Given the description of an element on the screen output the (x, y) to click on. 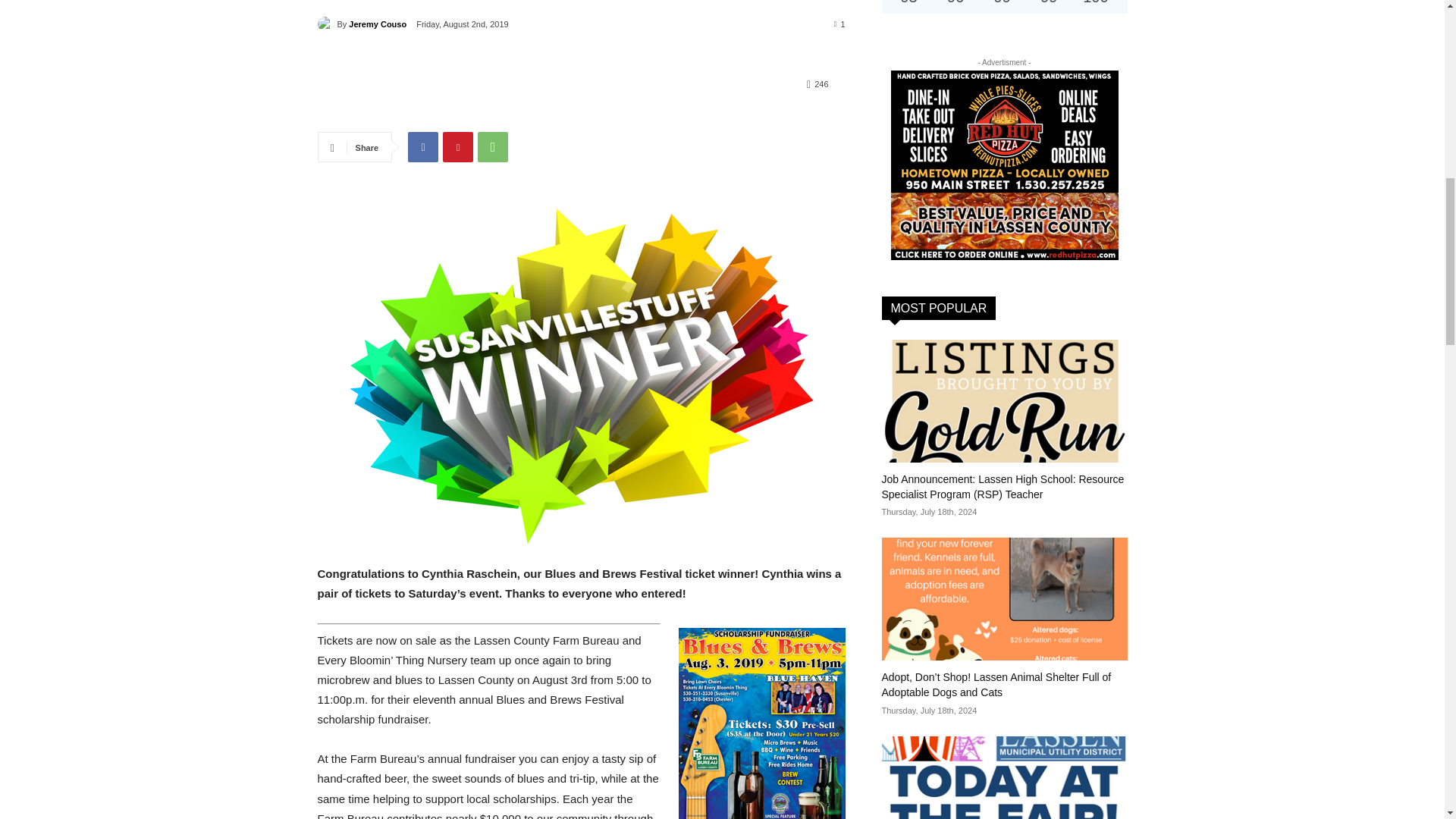
Jeremy Couso (326, 23)
Pinterest (457, 146)
Facebook (422, 146)
